Given the description of an element on the screen output the (x, y) to click on. 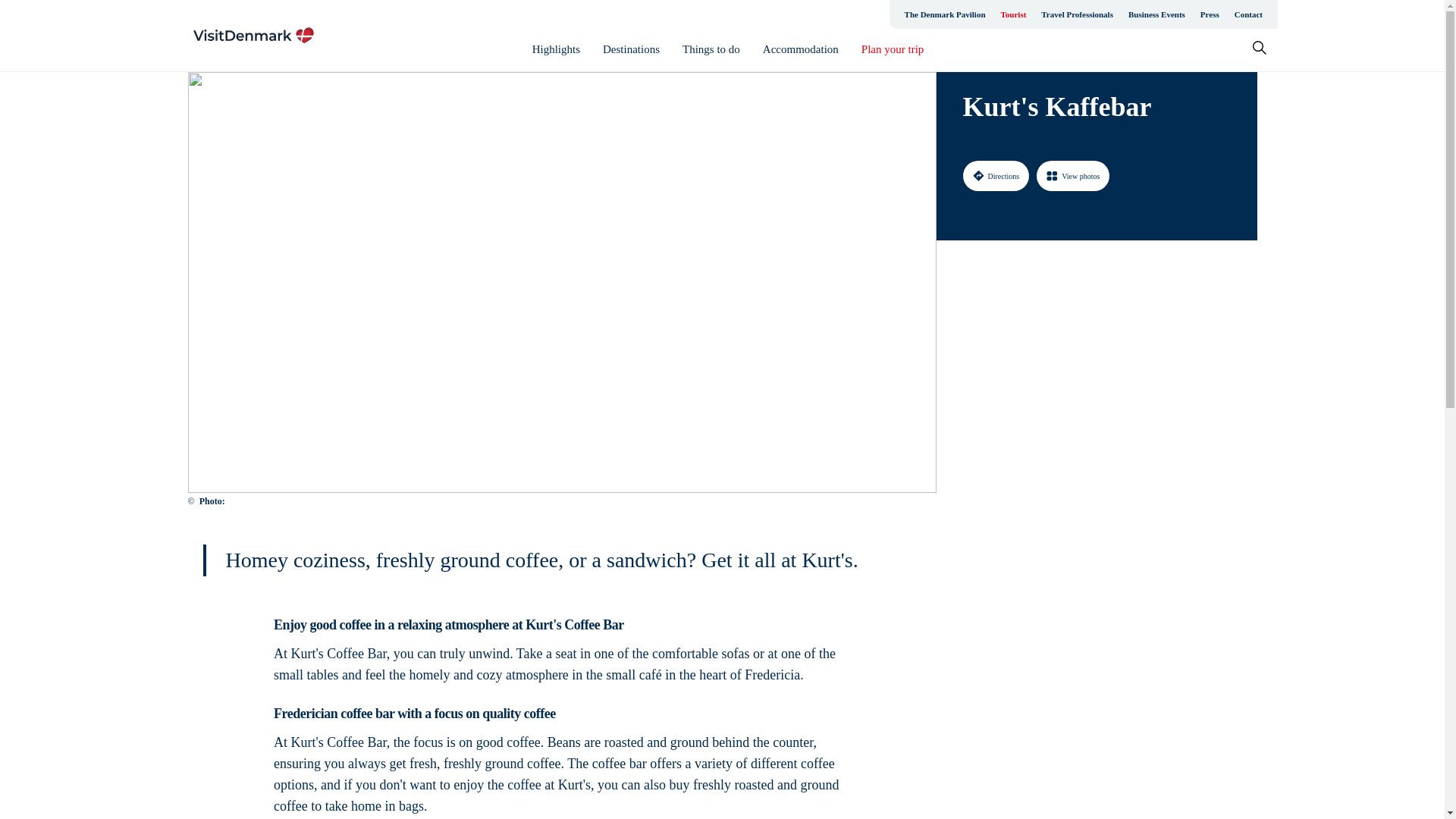
Press (1209, 14)
Business Events (1156, 14)
Tourist (1012, 14)
The Denmark Pavilion (944, 14)
Destinations (630, 49)
Accommodation (800, 49)
Things to do (710, 49)
Contact (1248, 14)
Go to homepage (253, 35)
Travel Professionals (1077, 14)
Directions (995, 175)
Plan your trip (892, 49)
View photos (1072, 175)
Highlights (555, 49)
